Given the description of an element on the screen output the (x, y) to click on. 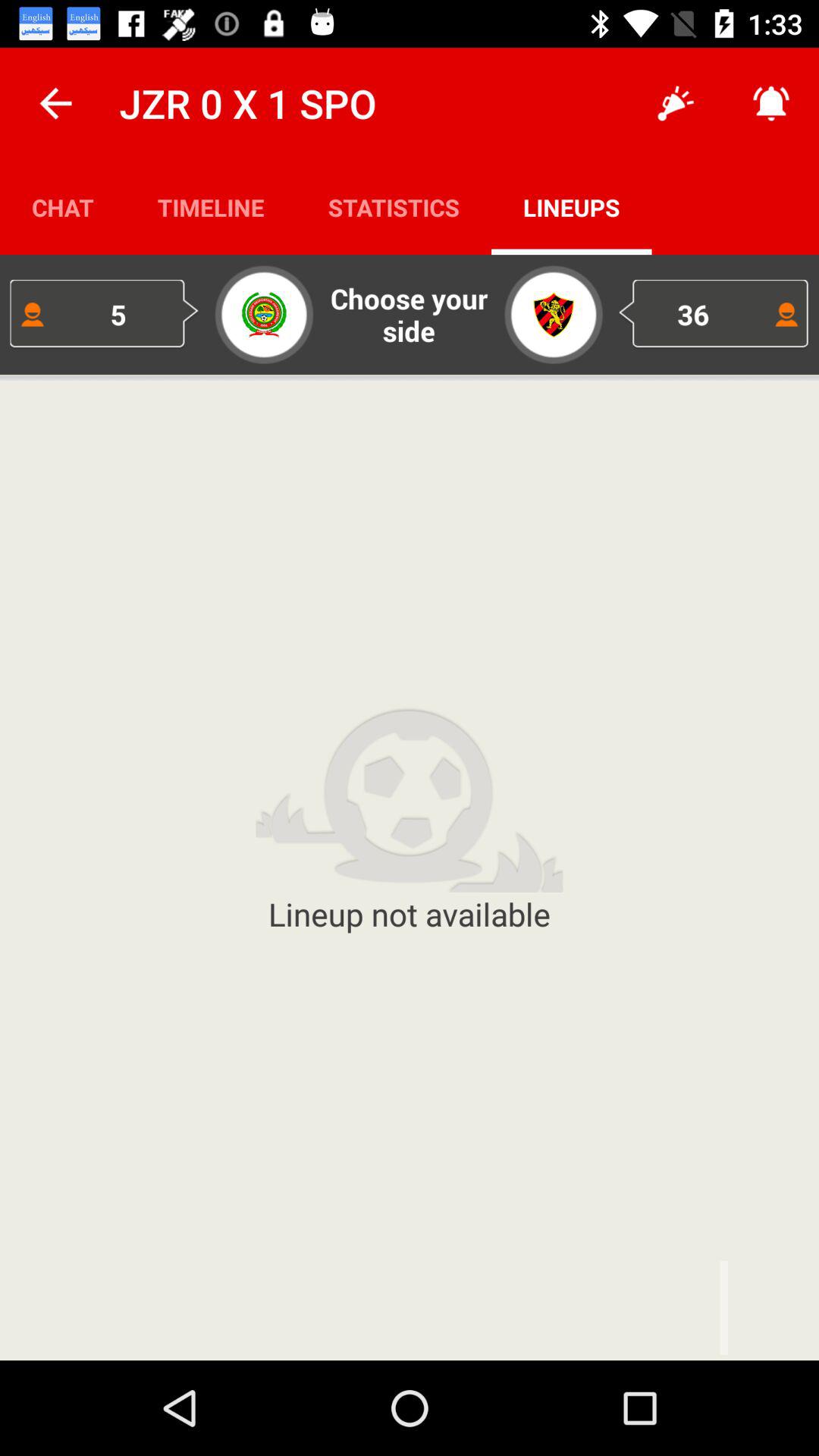
launch app next to the lineups item (393, 206)
